Given the description of an element on the screen output the (x, y) to click on. 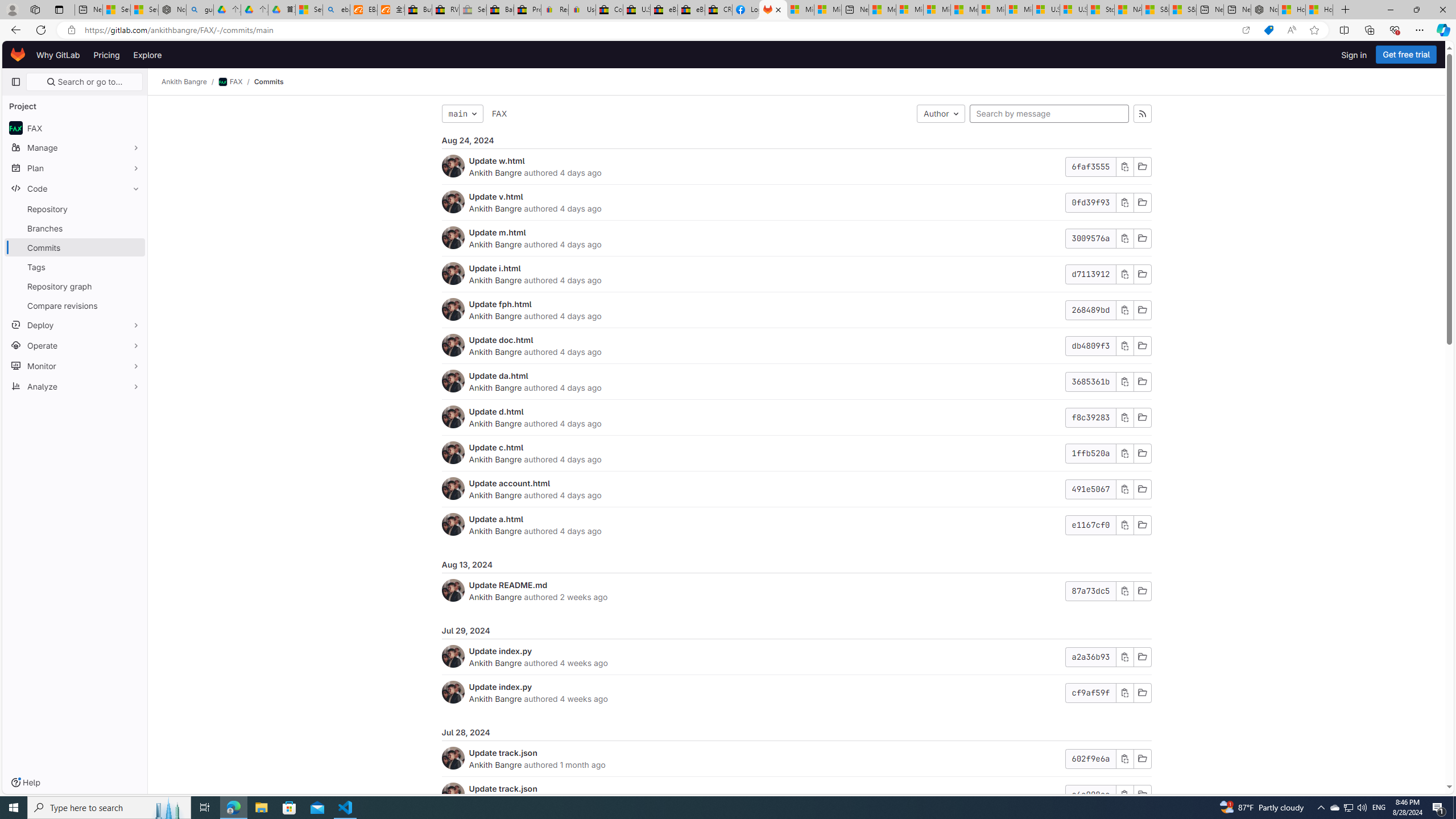
Update track.jsonAnkith Bangre authored 1 month agoc6a008ac (796, 794)
Why GitLab (58, 54)
Update m.html (496, 232)
Tags (74, 266)
Deploy (74, 324)
Search by message (1048, 113)
Update index.py (500, 686)
Compare revisions (74, 305)
Repository graph (74, 285)
Explore (146, 54)
Explore (146, 54)
